Given the description of an element on the screen output the (x, y) to click on. 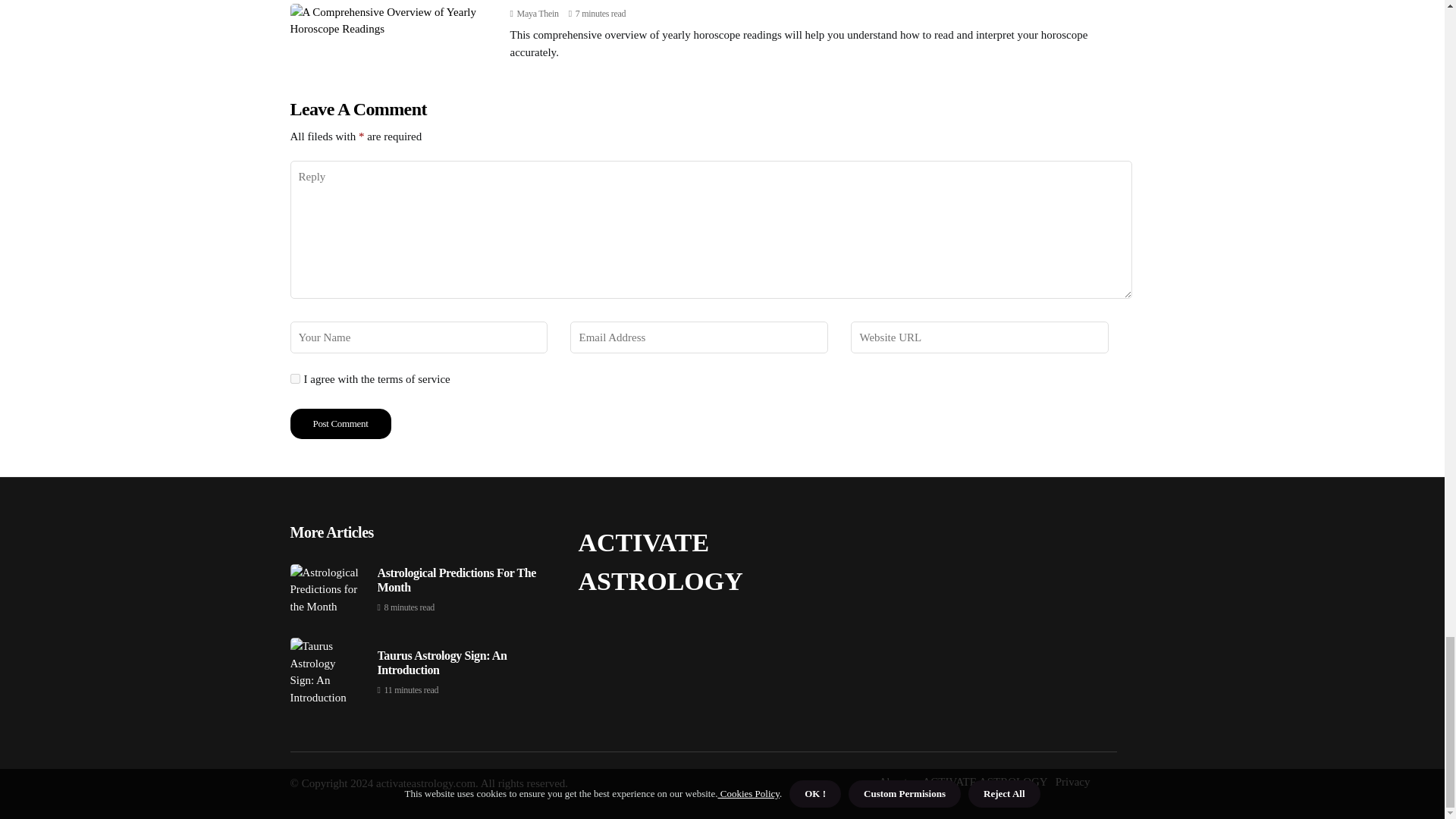
Posts by Maya Thein (537, 13)
Post Comment (339, 423)
yes (294, 378)
